Given the description of an element on the screen output the (x, y) to click on. 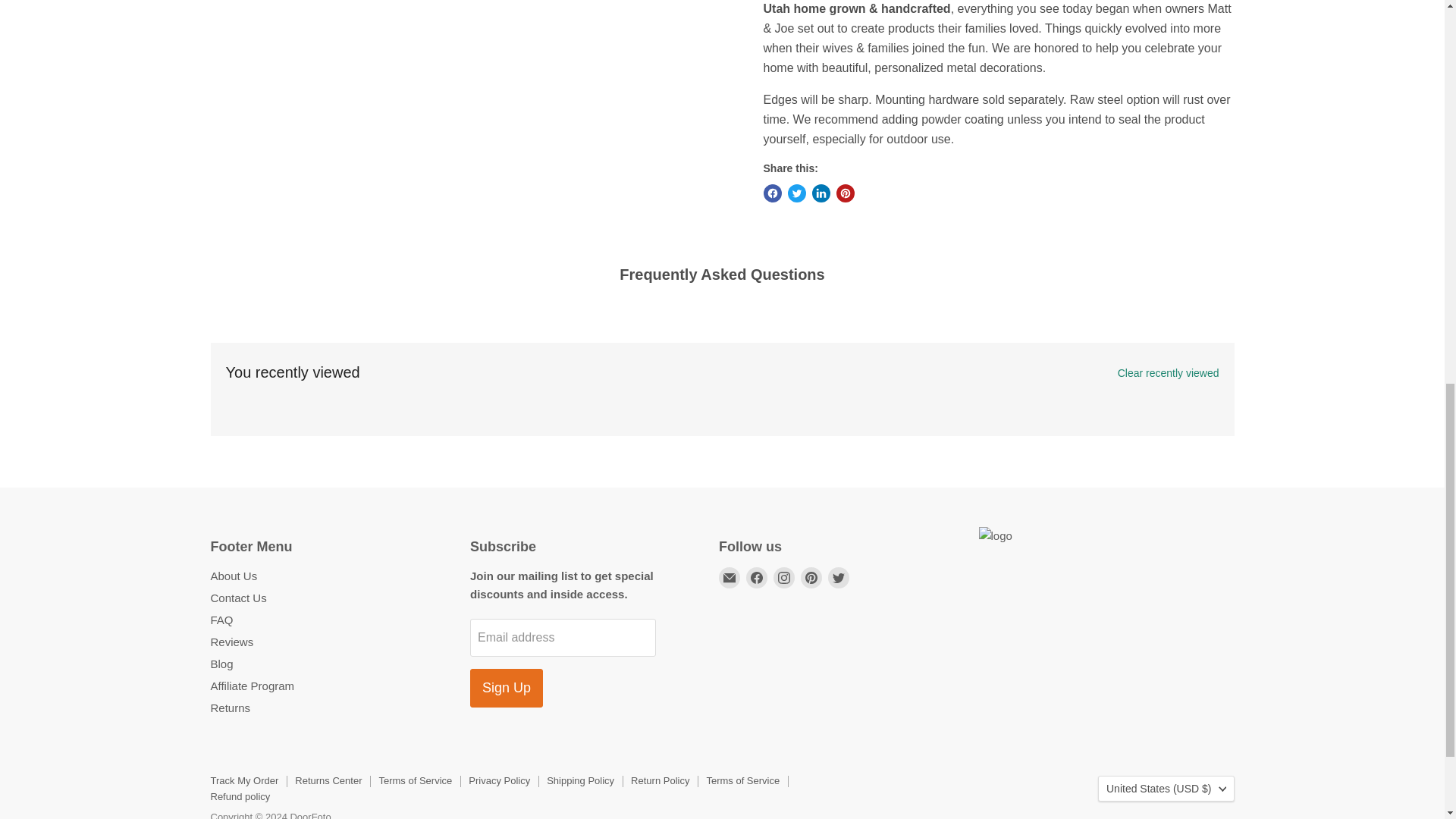
Twitter (838, 577)
Instagram (783, 577)
Facebook (756, 577)
Pinterest (811, 577)
E-mail (729, 577)
